Given the description of an element on the screen output the (x, y) to click on. 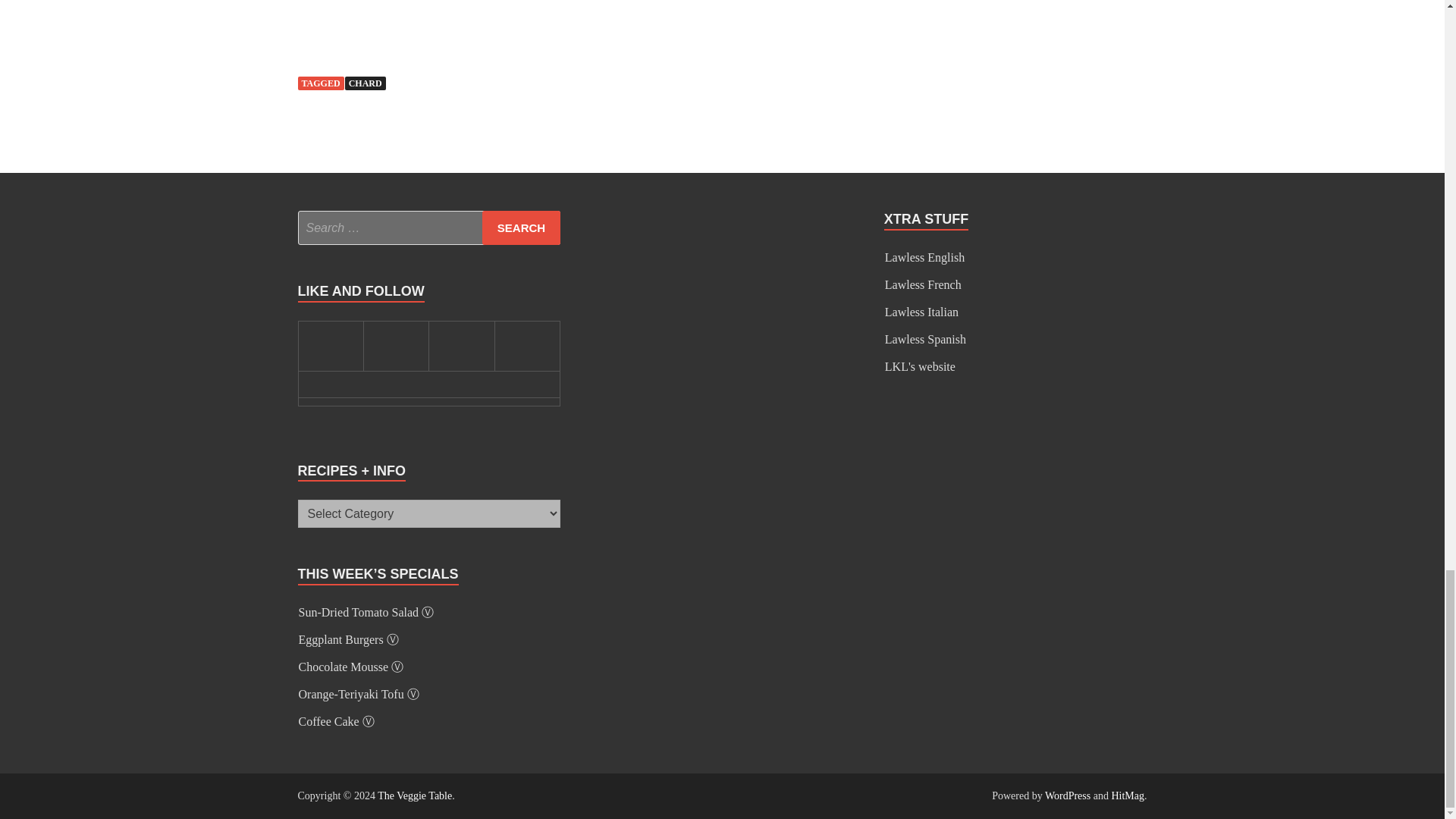
Learn English online (924, 256)
Search (520, 227)
HitMag WordPress Theme (1127, 795)
Learn French online (922, 284)
Search (520, 227)
The Veggie Table (414, 795)
WordPress (1067, 795)
